Given the description of an element on the screen output the (x, y) to click on. 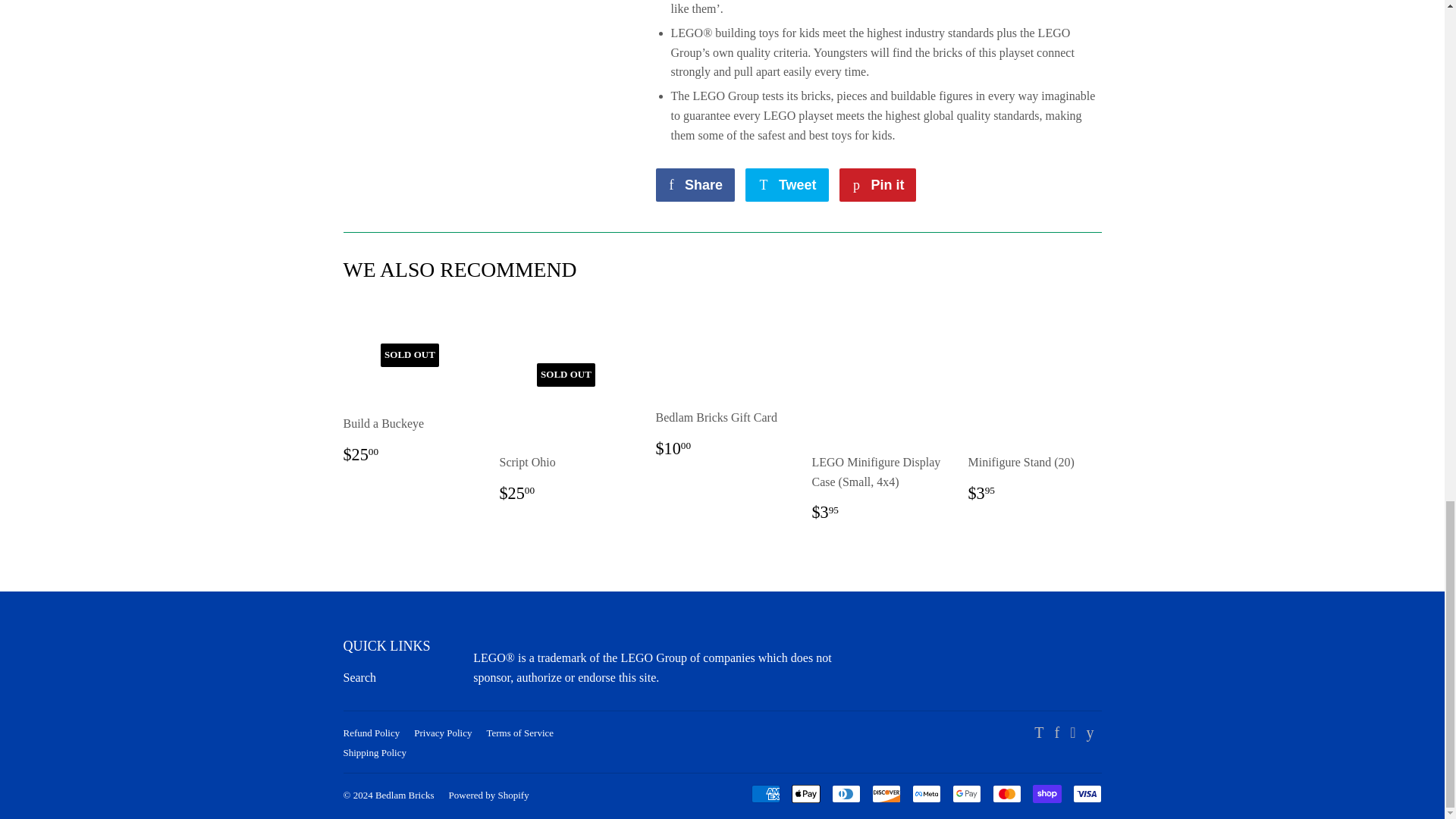
Pin on Pinterest (877, 184)
Google Pay (966, 793)
Mastercard (1005, 793)
Meta Pay (925, 793)
American Express (764, 793)
Visa (1085, 793)
Share on Facebook (694, 184)
Diners Club (845, 793)
Shop Pay (1046, 793)
Discover (886, 793)
Apple Pay (806, 793)
Tweet on Twitter (786, 184)
